Given the description of an element on the screen output the (x, y) to click on. 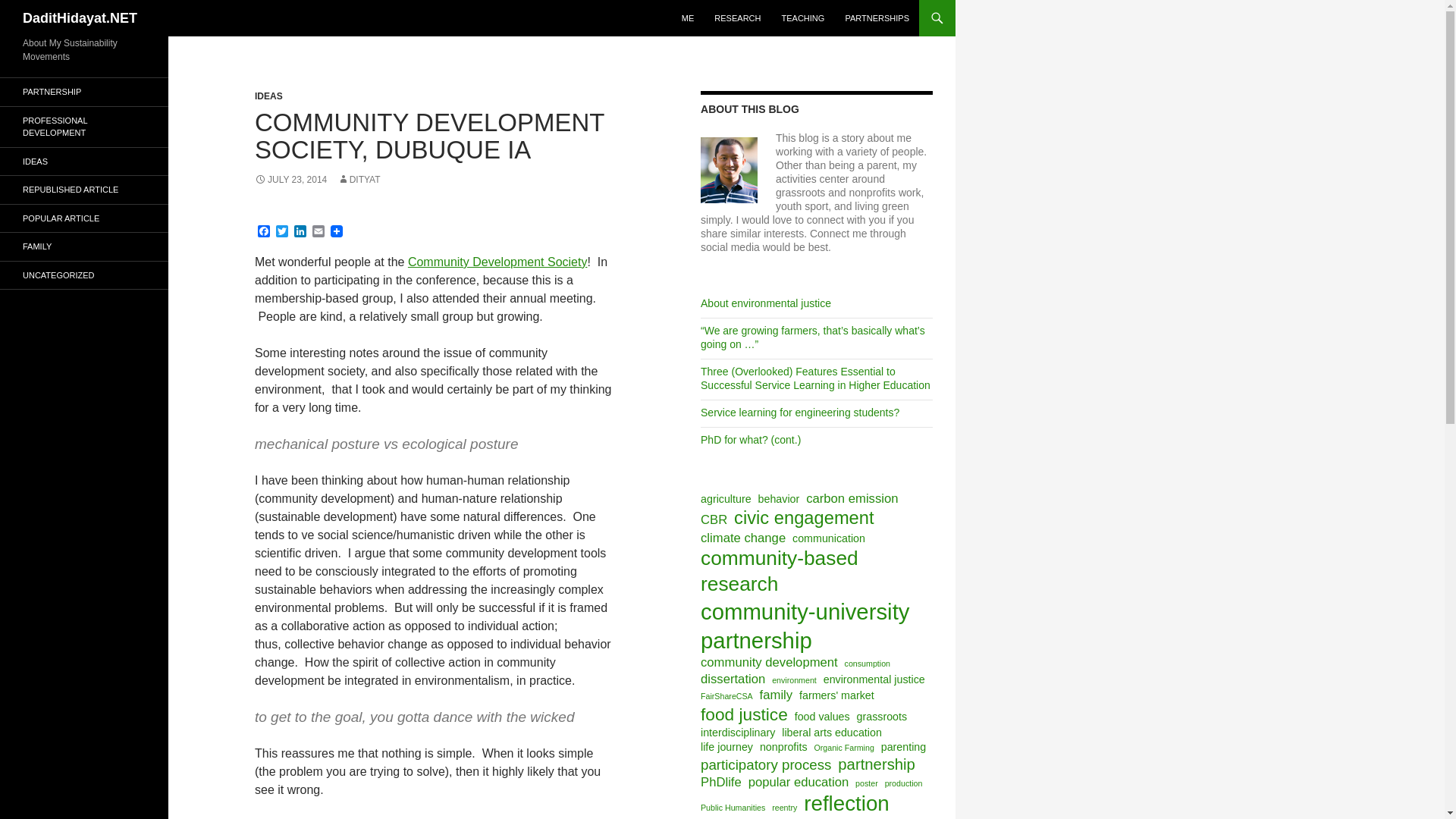
community-based research (814, 571)
Community Development Society (497, 261)
Email (317, 232)
Twitter (282, 232)
IDEAS (268, 95)
carbon emission (852, 498)
dissertation (732, 678)
DITYAT (358, 179)
community-university partnership (814, 625)
CBR (713, 519)
